Given the description of an element on the screen output the (x, y) to click on. 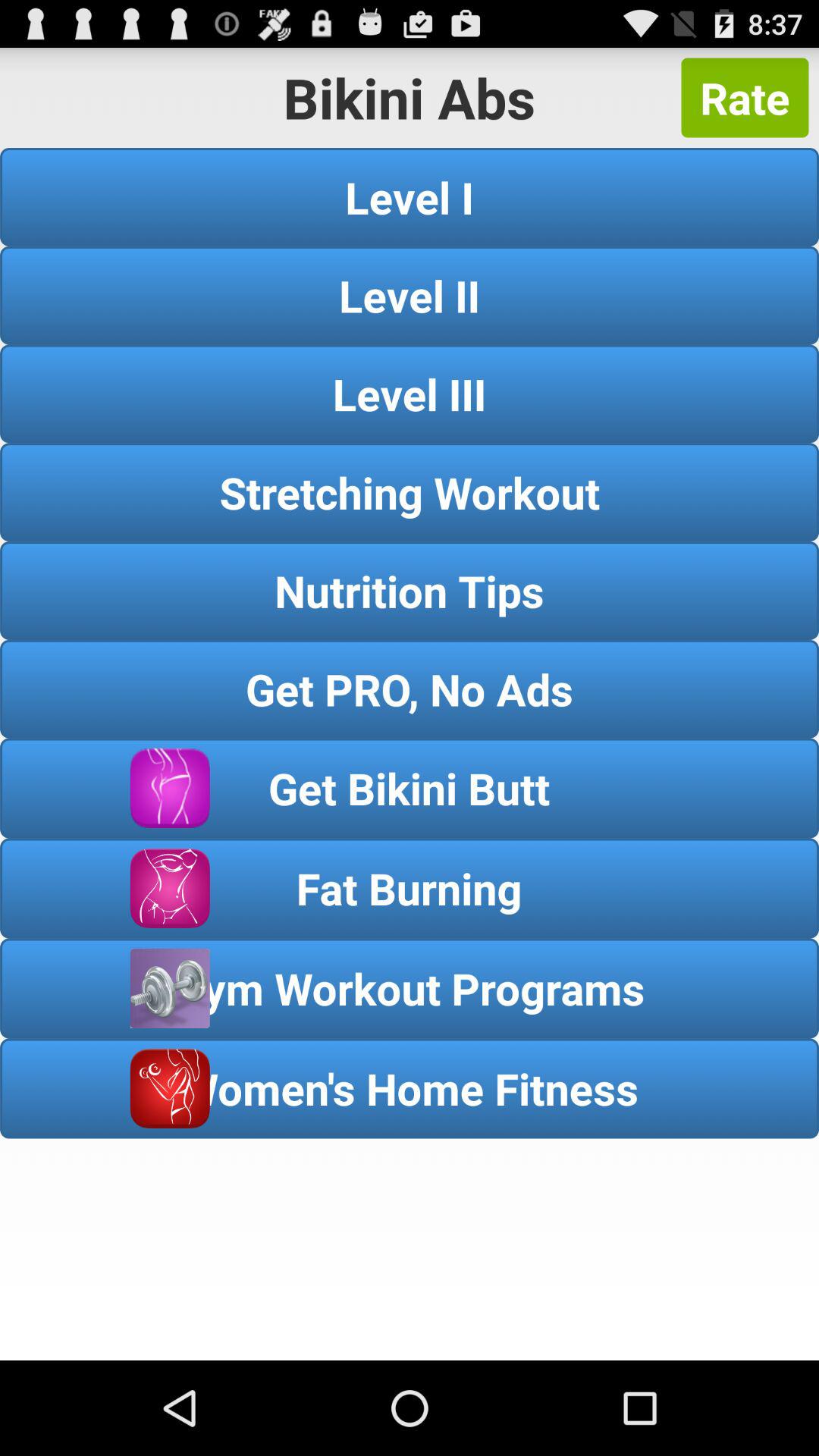
tap item above the nutrition tips (409, 492)
